Given the description of an element on the screen output the (x, y) to click on. 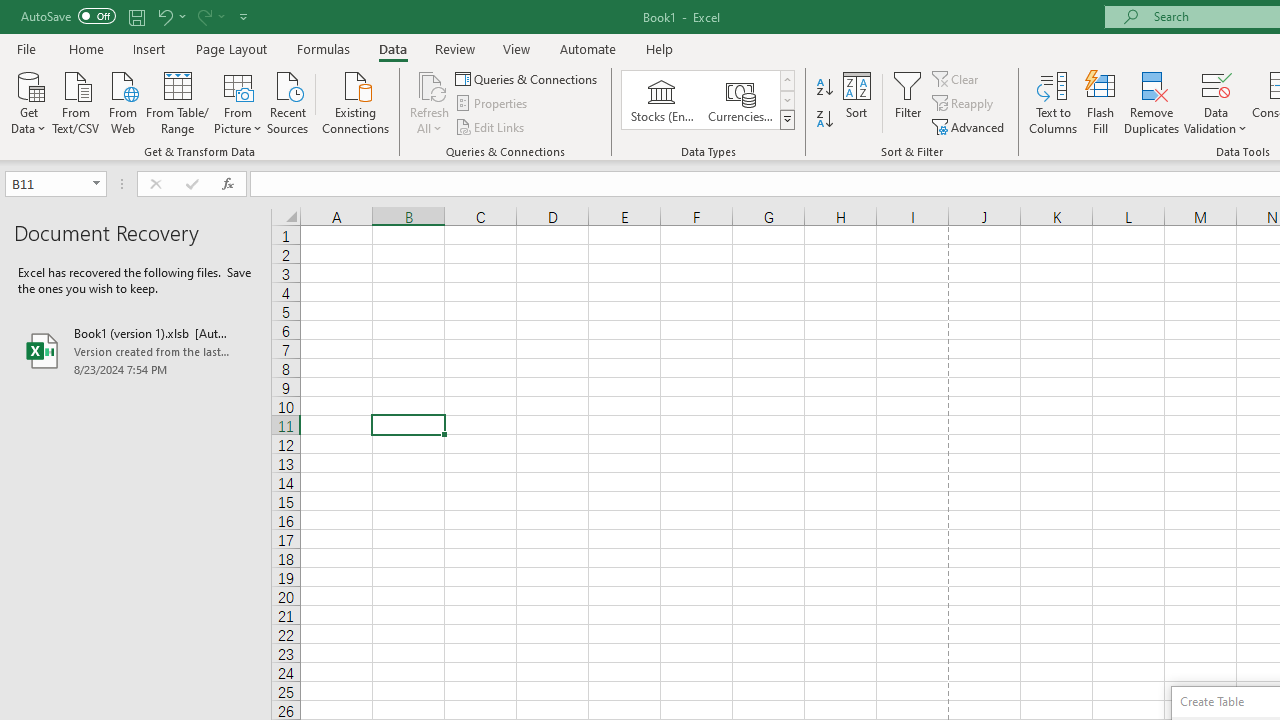
Filter (908, 102)
Remove Duplicates (1151, 102)
From Web (122, 101)
Stocks (English) (662, 100)
Edit Links (491, 126)
Get Data (28, 101)
Existing Connections (355, 101)
